Given the description of an element on the screen output the (x, y) to click on. 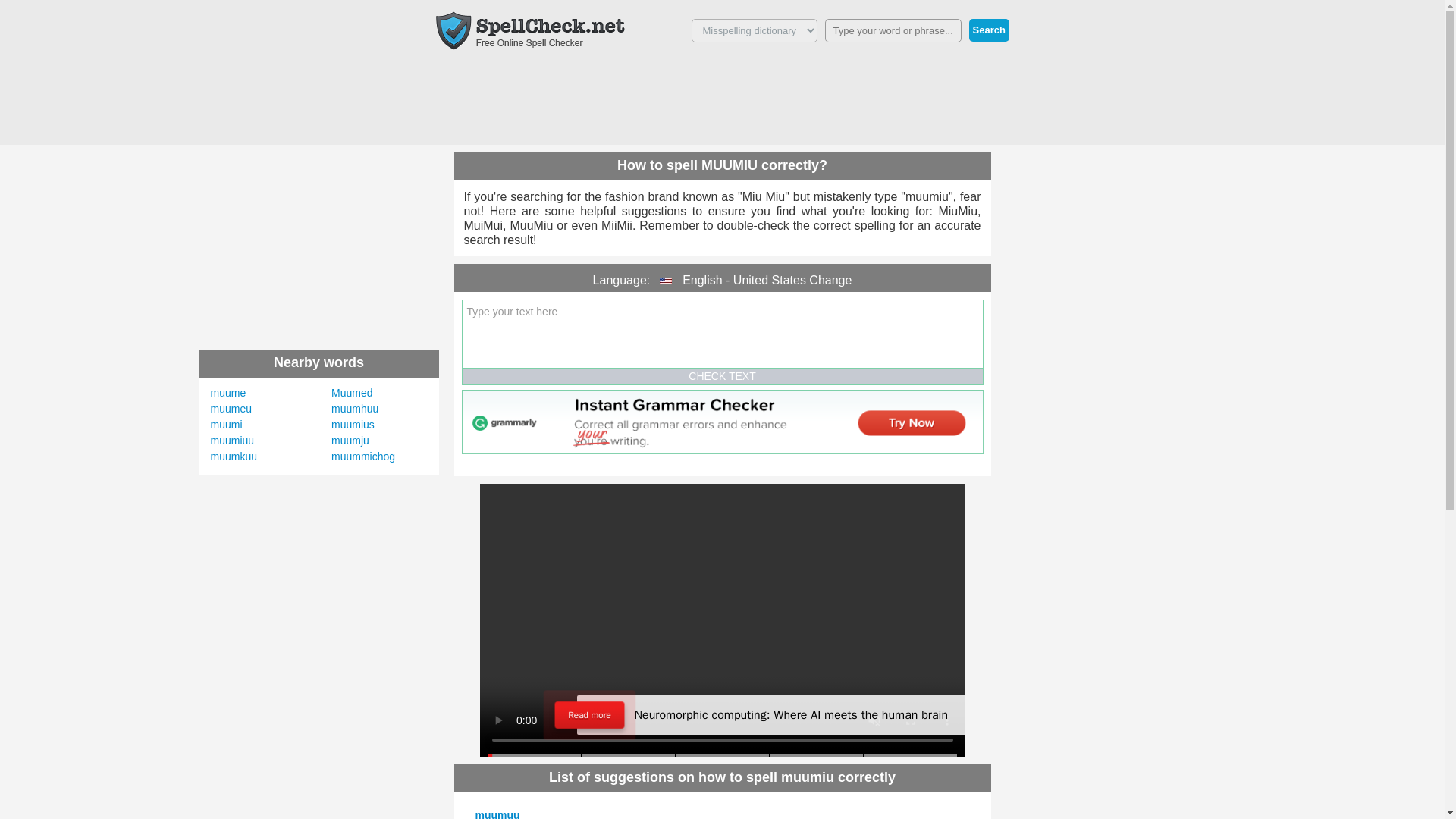
muume (228, 392)
Spellcheck.net (529, 30)
Muumed (351, 392)
muumhuu (354, 408)
muumi (227, 424)
Search (989, 29)
muumhuu (354, 408)
muumiuu (232, 440)
muumeu (231, 408)
muume (228, 392)
